Given the description of an element on the screen output the (x, y) to click on. 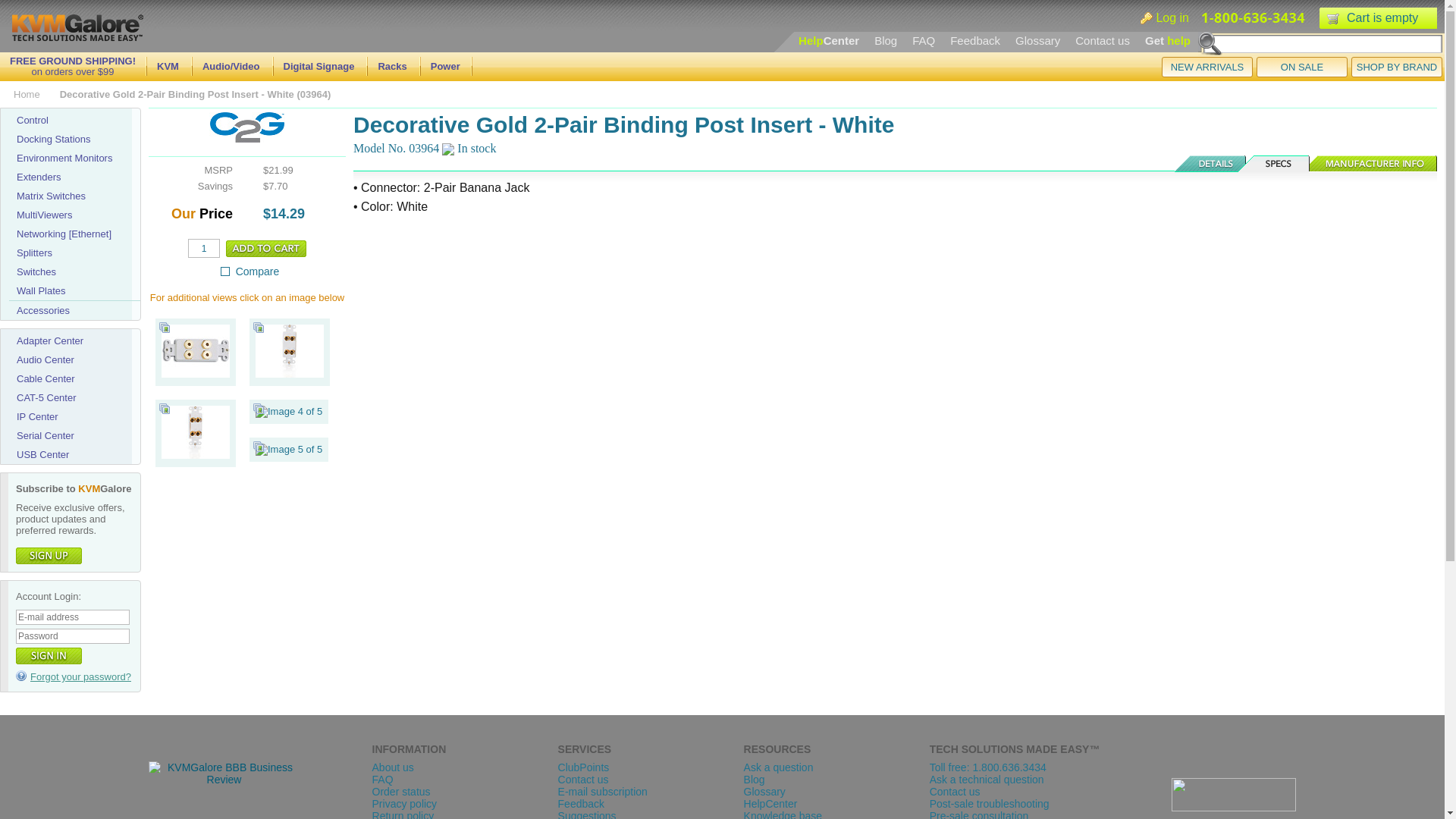
 Image 3 of 5  (195, 431)
Contact us (1102, 40)
Image 1 of 5 (195, 374)
HelpCenter (828, 40)
Glossary (1036, 40)
FREE GROUND SHIPPING! (72, 60)
KVM (167, 66)
1 (203, 248)
 Image 5 of 5  (288, 449)
 KVMGalore phone number  (1253, 17)
Feedback (975, 40)
 Image 2 of 5  (289, 350)
Image 5 of 5 (288, 449)
Image 2 of 5 (289, 374)
Blog (885, 40)
